Given the description of an element on the screen output the (x, y) to click on. 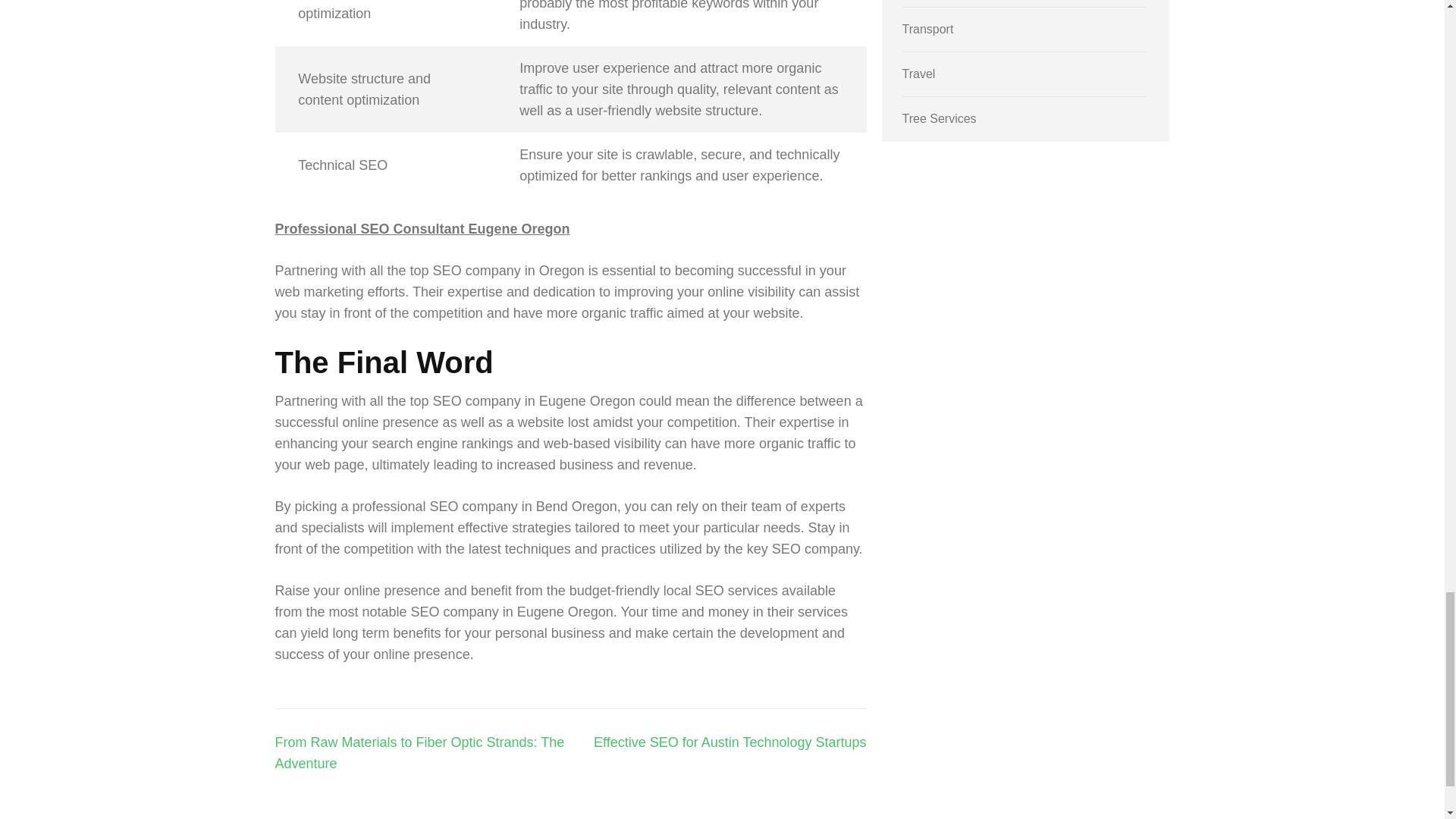
From Raw Materials to Fiber Optic Strands: The Adventure (419, 752)
Professional SEO Consultant Eugene Oregon (422, 228)
Effective SEO for Austin Technology Startups (730, 742)
